Given the description of an element on the screen output the (x, y) to click on. 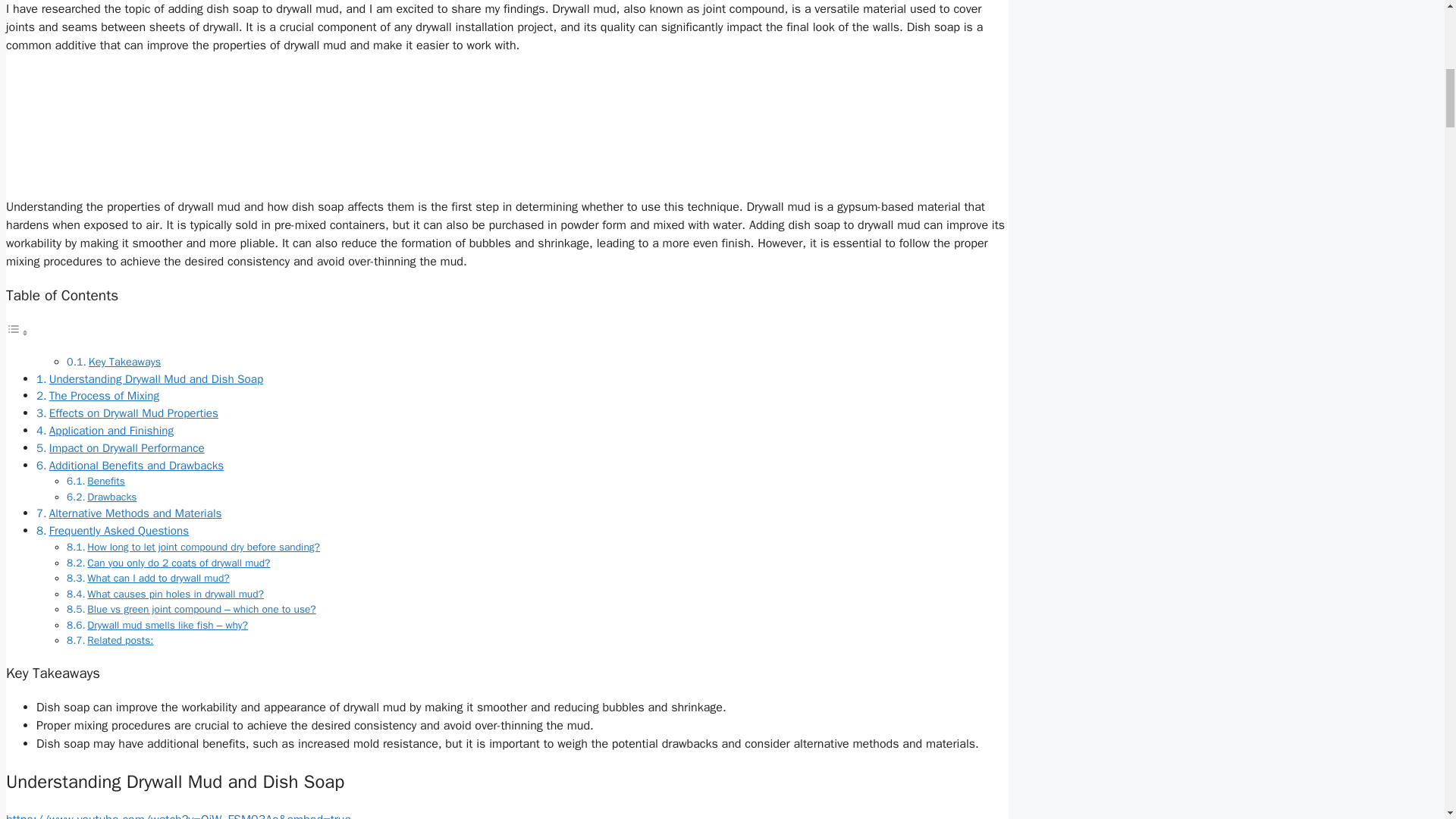
Additional Benefits and Drawbacks (136, 465)
The Process of Mixing (103, 395)
Frequently Asked Questions (119, 530)
Impact on Drywall Performance (127, 447)
Additional Benefits and Drawbacks (136, 465)
Effects on Drywall Mud Properties (133, 412)
Key Takeaways (124, 361)
Application and Finishing (111, 430)
Drawbacks (111, 496)
Impact on Drywall Performance (127, 447)
Key Takeaways (124, 361)
Related posts: (119, 640)
What can I add to drywall mud? (157, 577)
Understanding Drywall Mud and Dish Soap (156, 378)
Application and Finishing (111, 430)
